Given the description of an element on the screen output the (x, y) to click on. 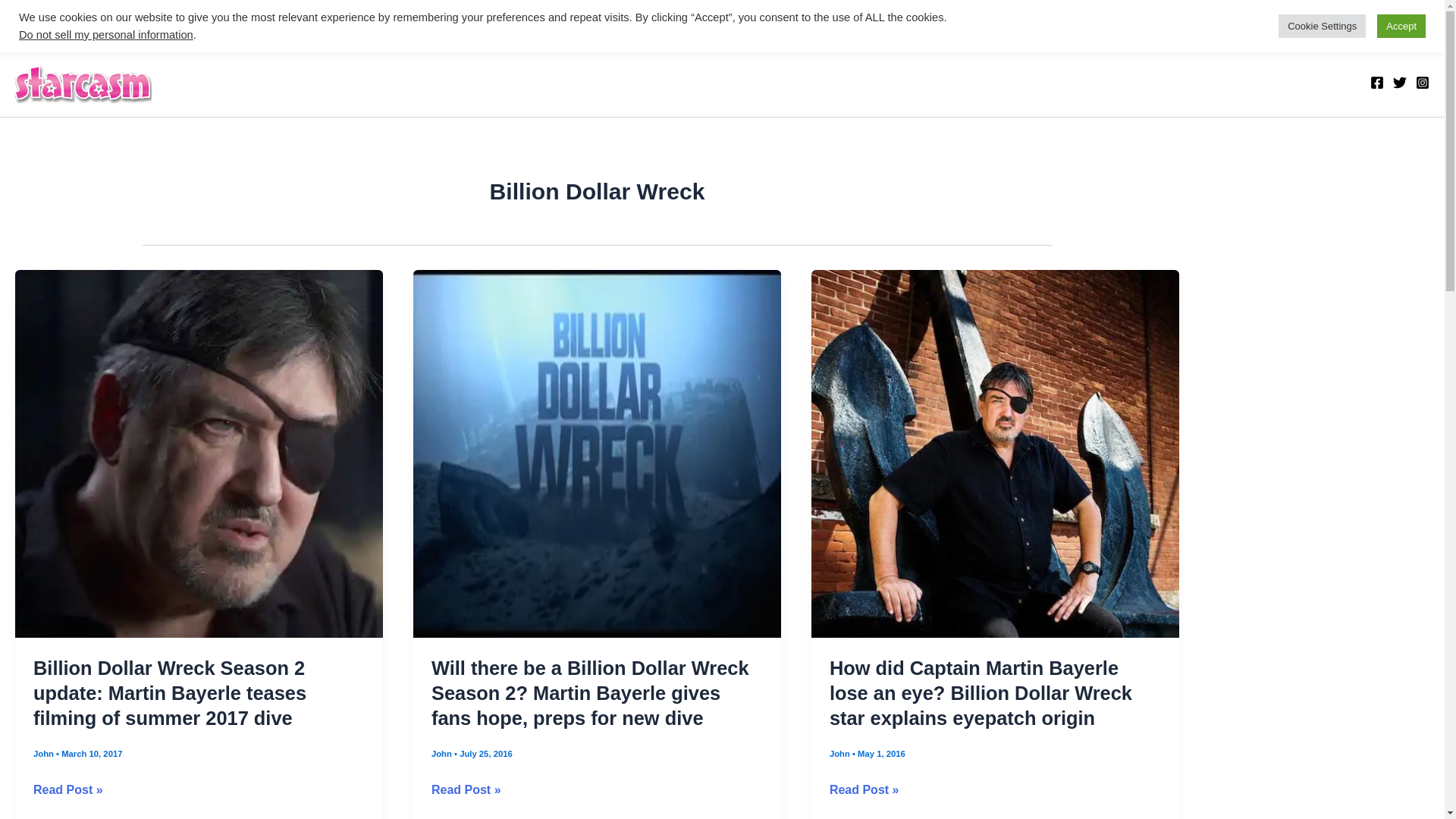
View all posts by John (44, 753)
Search Button (1415, 31)
Home (188, 22)
View all posts by John (442, 753)
TOP CATEGORIES (87, 22)
View all posts by John (840, 753)
John (44, 753)
